Given the description of an element on the screen output the (x, y) to click on. 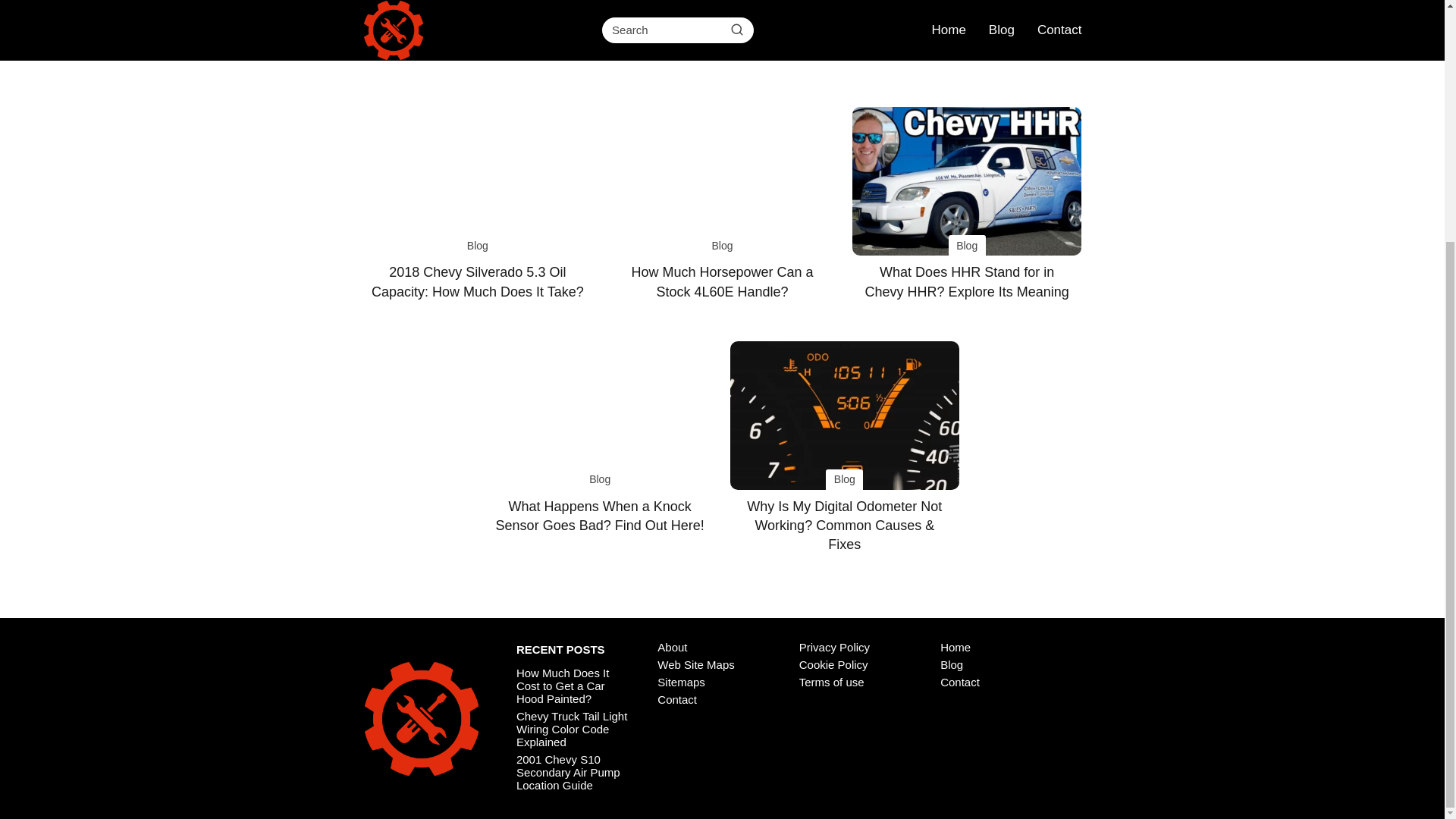
Contact (959, 681)
Web Site Maps (695, 664)
Contact (677, 698)
Chevy Truck Tail Light Wiring Color Code Explained (571, 729)
Blog (951, 664)
2001 Chevy S10 Secondary Air Pump Location Guide (568, 771)
Cookie Policy (833, 664)
Privacy Policy (834, 646)
Sitemaps (681, 681)
